Given the description of an element on the screen output the (x, y) to click on. 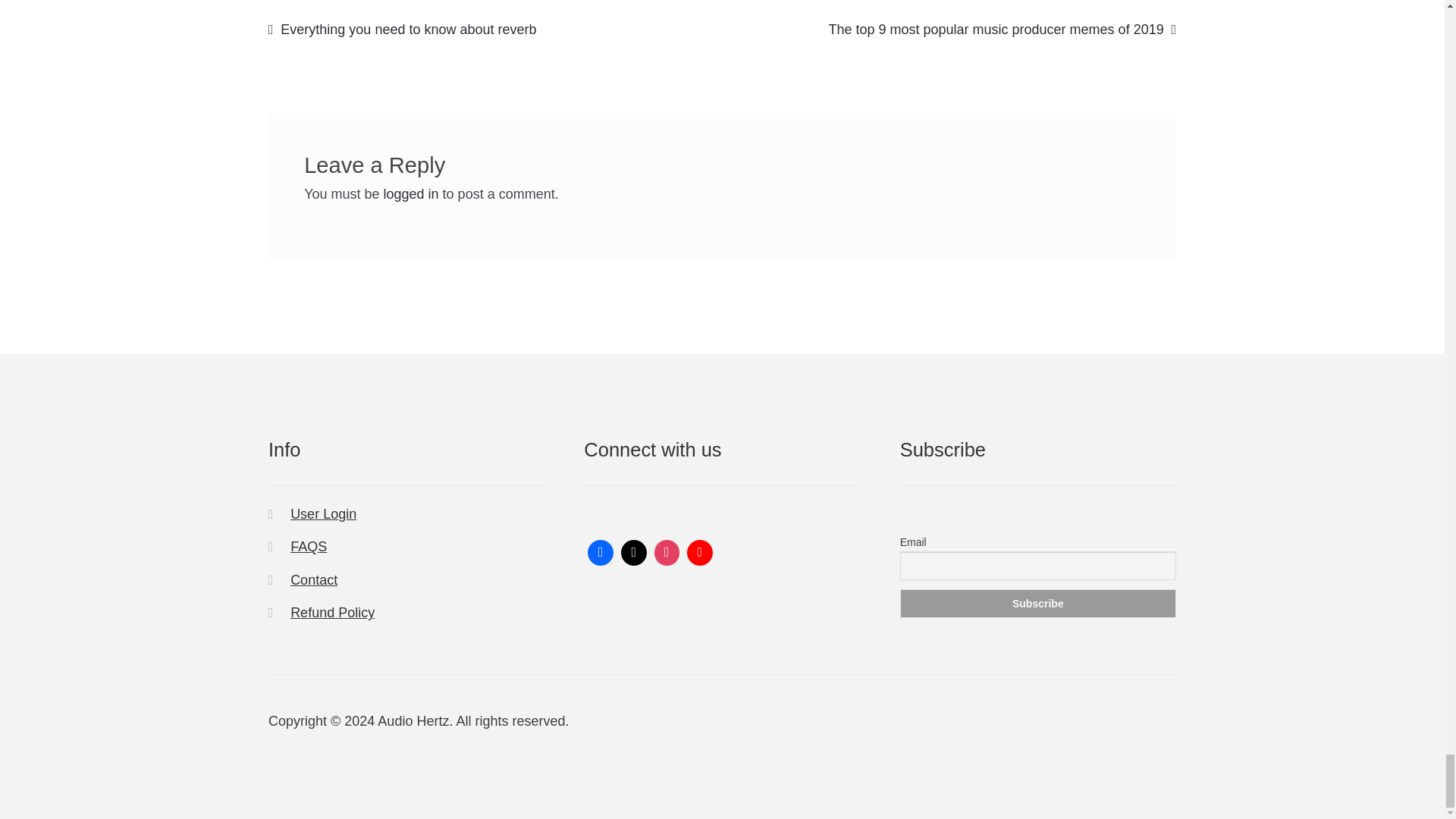
Facebook (600, 552)
Instagram (667, 552)
X (633, 552)
Subscribe (1037, 603)
Youtube (699, 552)
